Given the description of an element on the screen output the (x, y) to click on. 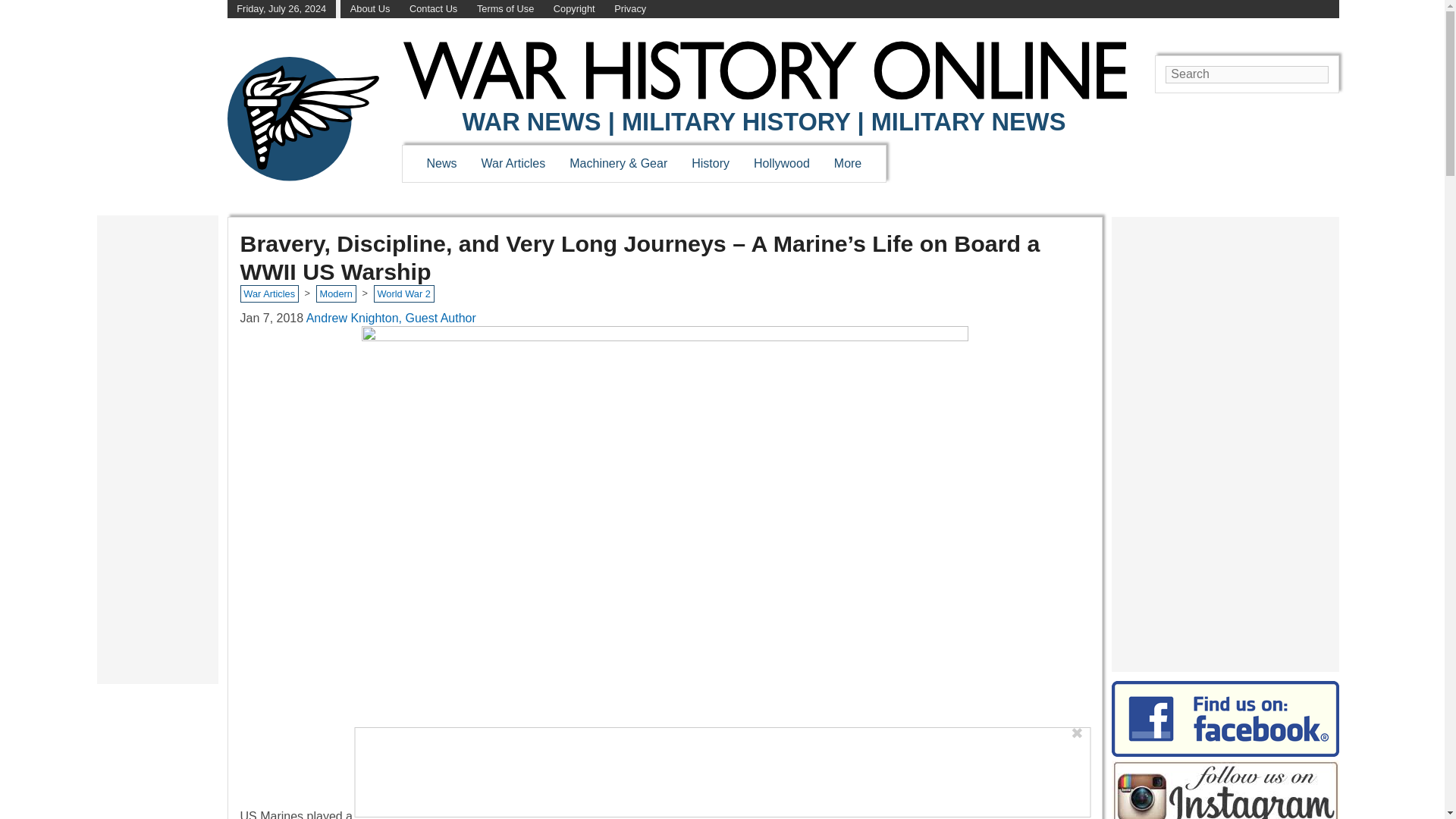
More (847, 163)
Copyright (574, 8)
Privacy (630, 8)
Hollywood (781, 163)
News (441, 163)
About Us (370, 8)
Terms of Use (505, 8)
Contact Us (433, 8)
War Articles (513, 163)
History (710, 163)
